Given the description of an element on the screen output the (x, y) to click on. 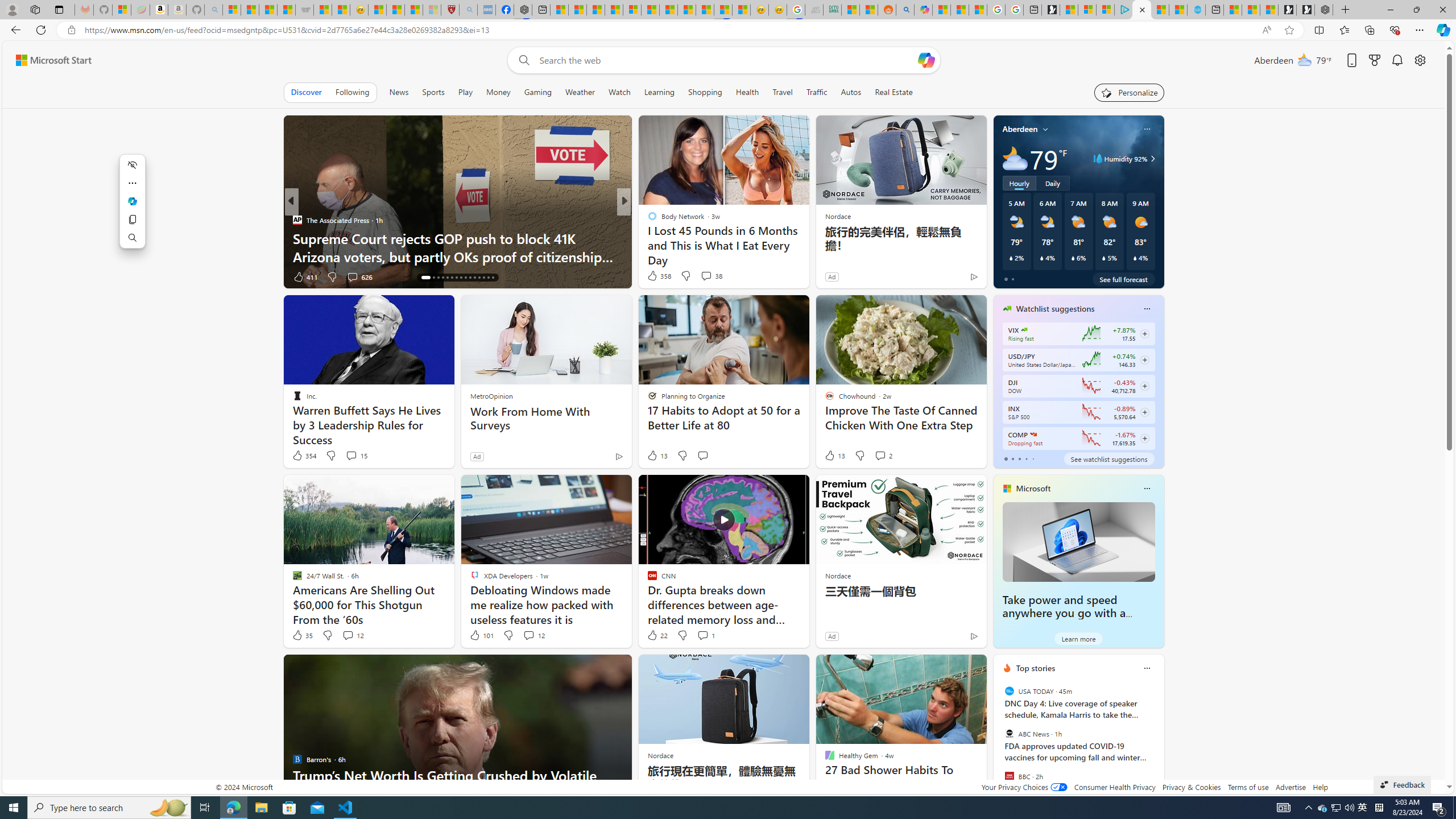
The Associated Press (296, 219)
604 Like (654, 276)
AutomationID: tab-30 (492, 277)
View comments 64 Comment (707, 276)
354 Like (303, 455)
Take power and speed anywhere you go with a Windows laptop. (1063, 613)
View comments 167 Comment (703, 276)
View comments 38 Comment (705, 275)
Class: weather-current-precipitation-glyph (1134, 257)
